Given the description of an element on the screen output the (x, y) to click on. 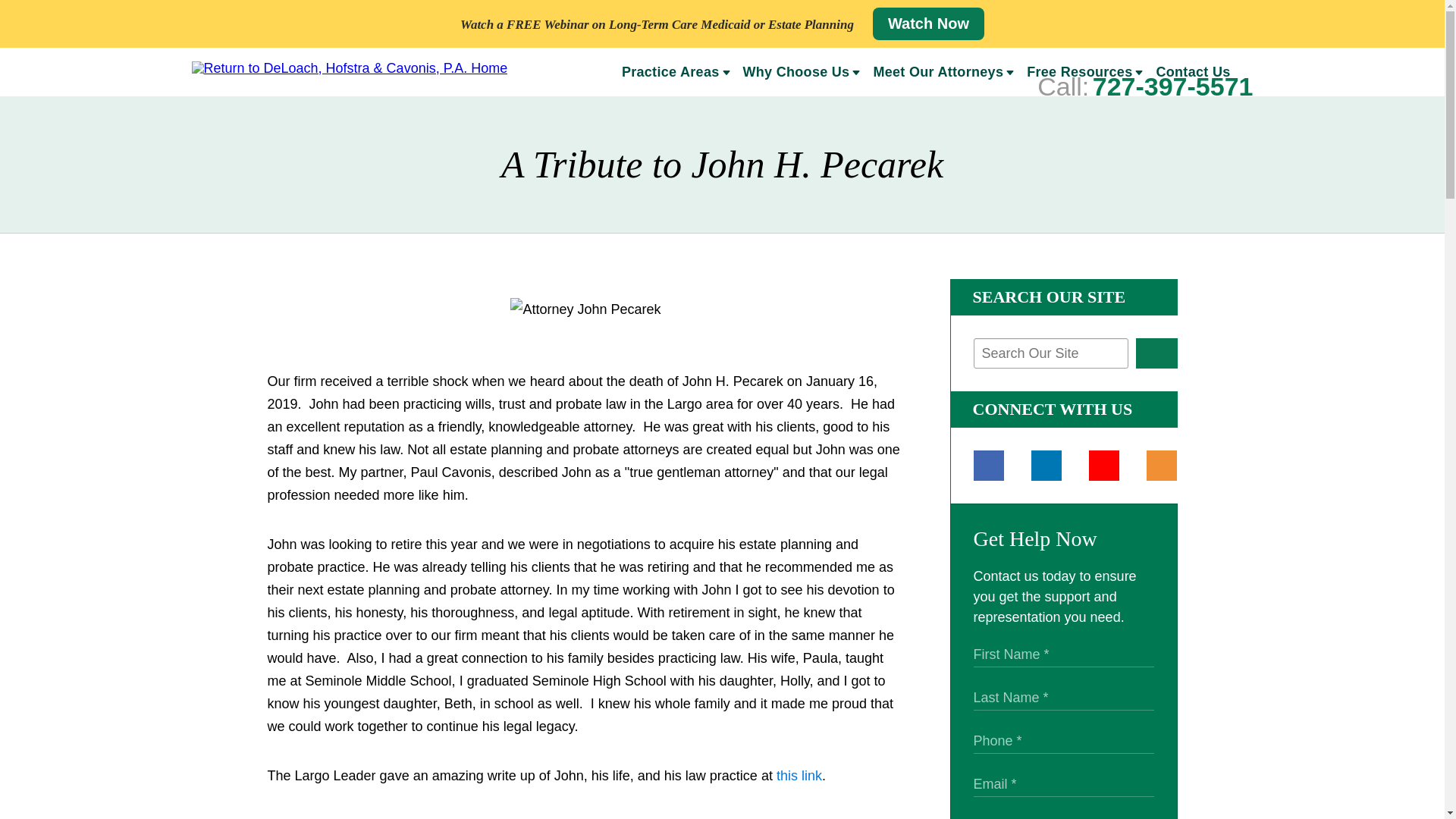
Search (1156, 353)
Watch Now (928, 23)
Practice Areas (664, 74)
Why Choose Us (791, 74)
call local (1173, 86)
727-397-5571 (1173, 86)
